Given the description of an element on the screen output the (x, y) to click on. 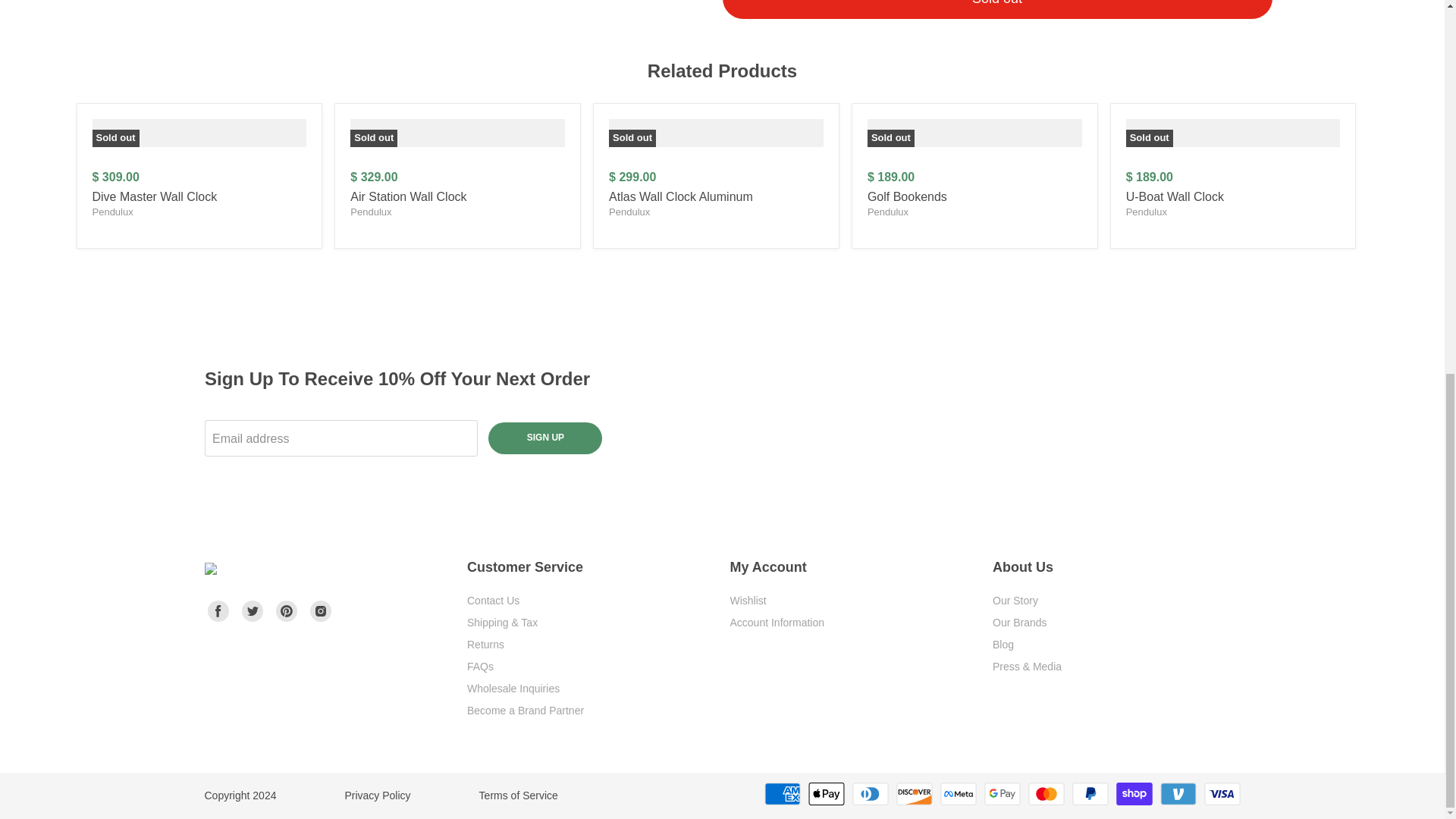
Diners Club (869, 793)
Twitter (251, 610)
American Express (782, 793)
Instagram (319, 610)
Facebook (218, 610)
Discover (914, 793)
Pinterest (286, 610)
Apple Pay (826, 793)
